Given the description of an element on the screen output the (x, y) to click on. 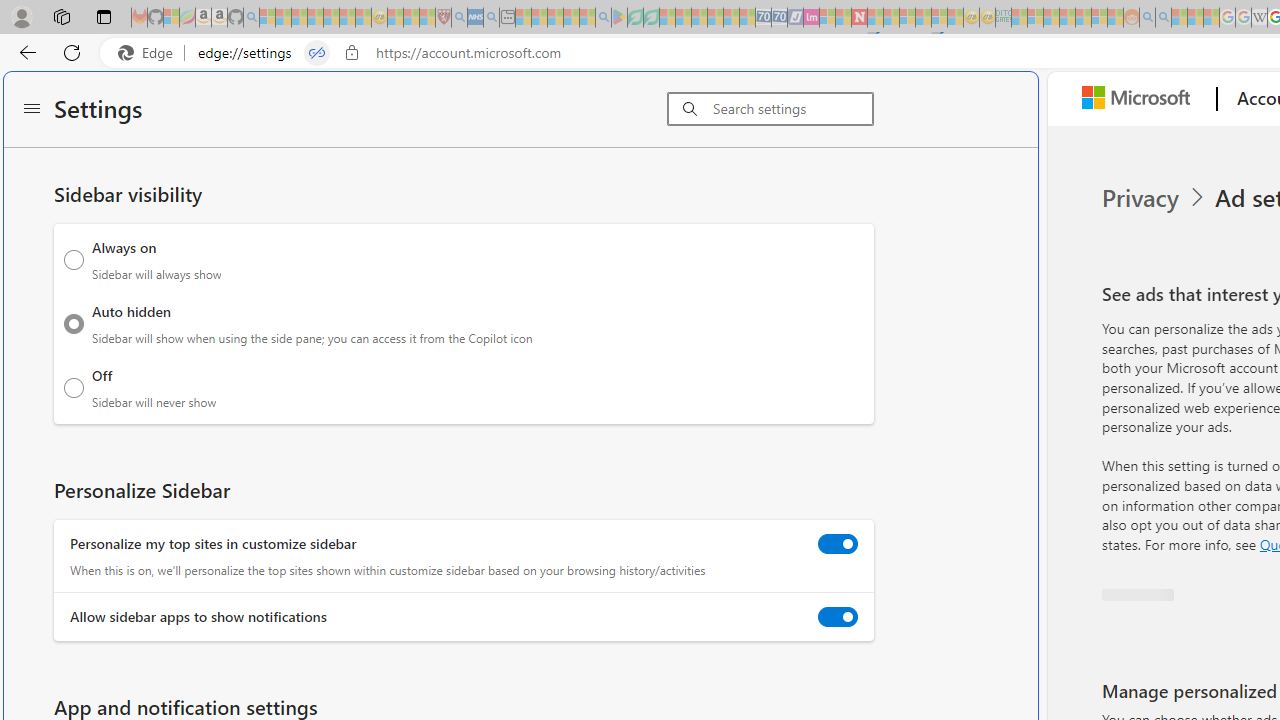
Local - MSN - Sleeping (427, 17)
Off Sidebar will never show (74, 388)
Always on Sidebar will always show (74, 259)
Microsoft (1140, 99)
DITOGAMES AG Imprint - Sleeping (1003, 17)
Edge (150, 53)
